Given the description of an element on the screen output the (x, y) to click on. 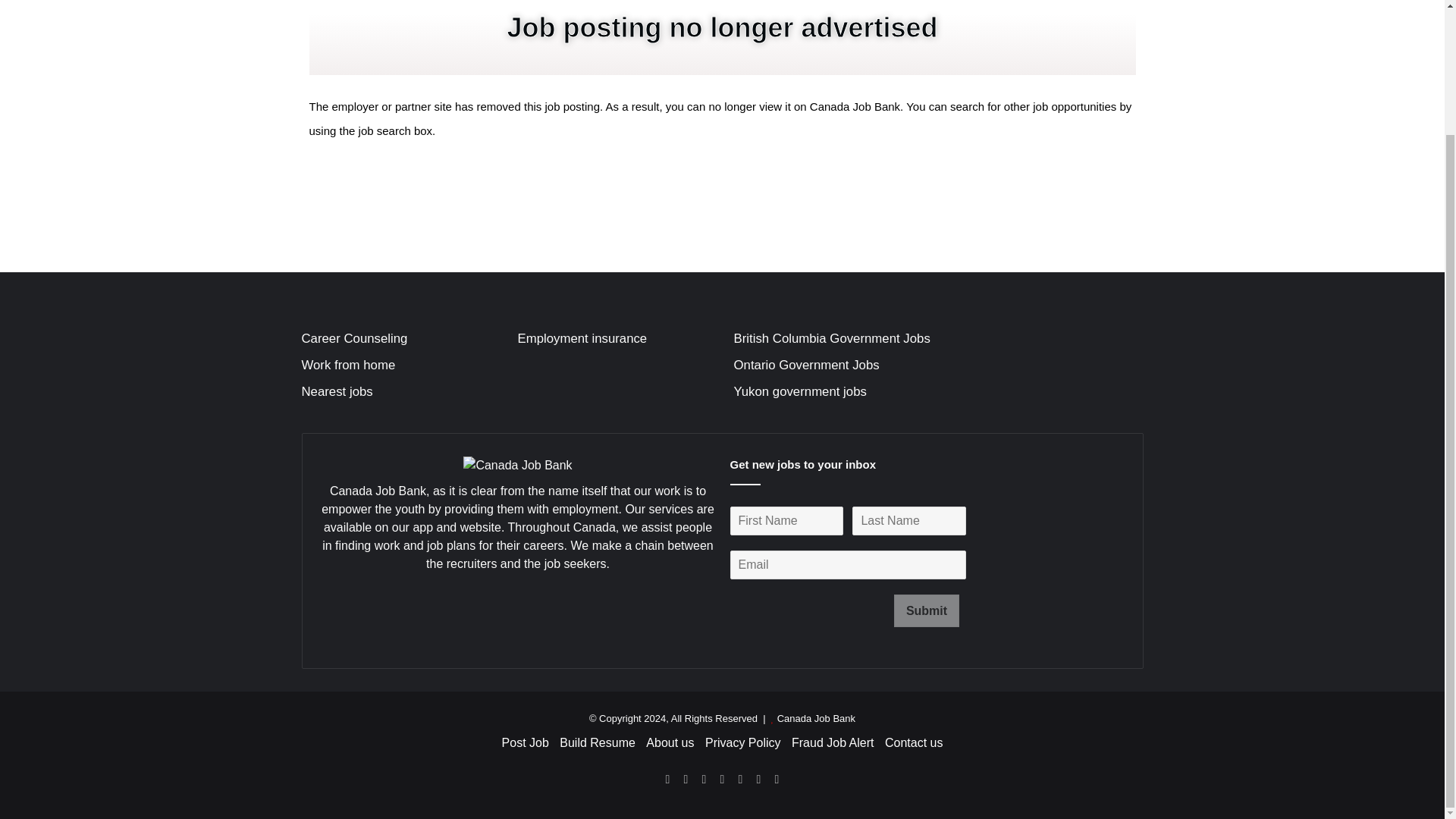
About us (670, 742)
Post Job (525, 742)
Work from home (348, 364)
Nearest jobs (336, 391)
Submit (926, 610)
Ontario Government Jobs (806, 364)
Contact us (913, 742)
Employment insurance (581, 338)
Career Counseling (354, 338)
Build Resume (596, 742)
Fraud Job Alert (833, 742)
Yukon government jobs (799, 391)
British Columbia Government Jobs (831, 338)
Privacy Policy (742, 742)
